Given the description of an element on the screen output the (x, y) to click on. 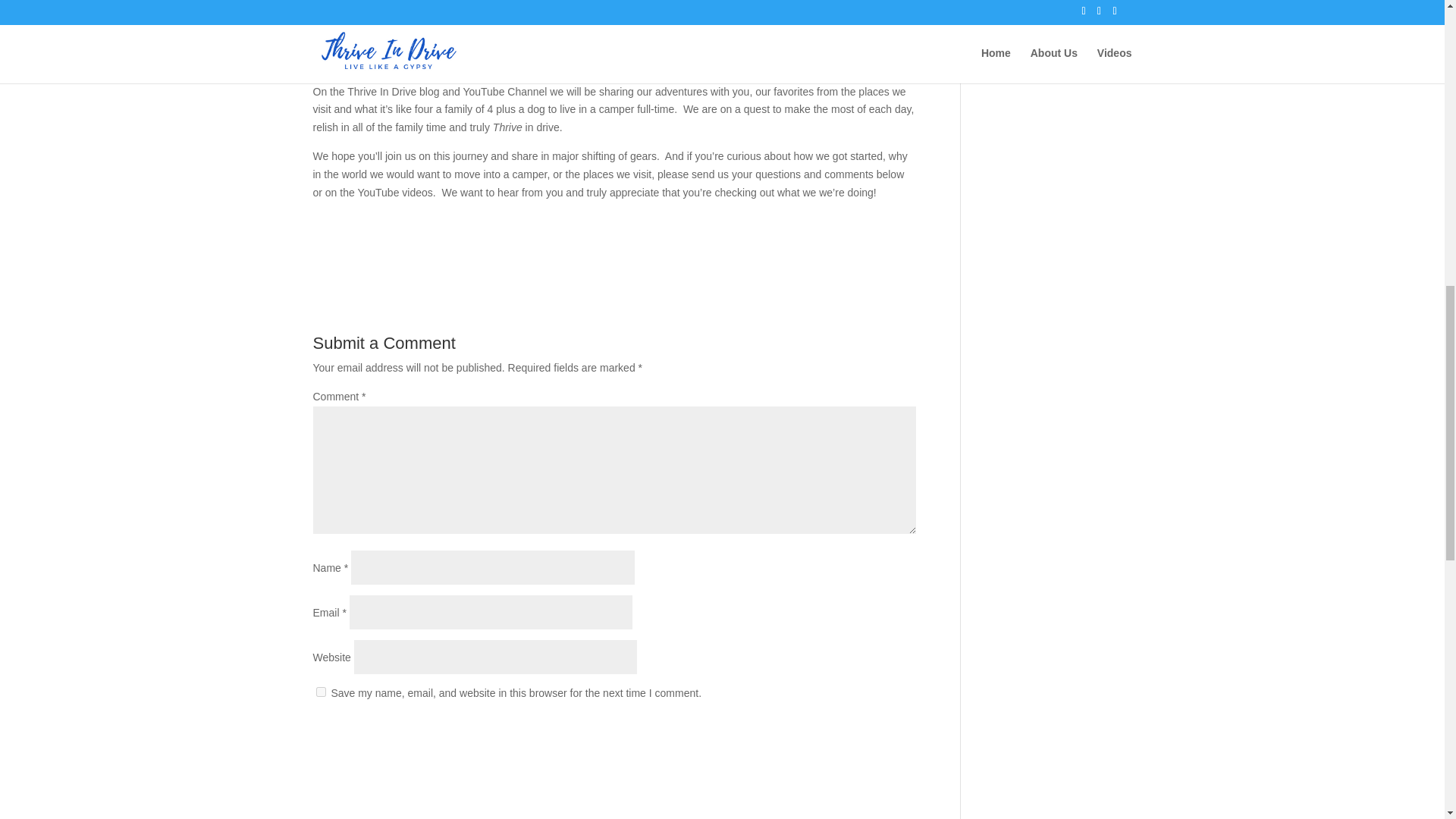
yes (319, 691)
Submit Comment (840, 732)
Submit Comment (840, 732)
